Given the description of an element on the screen output the (x, y) to click on. 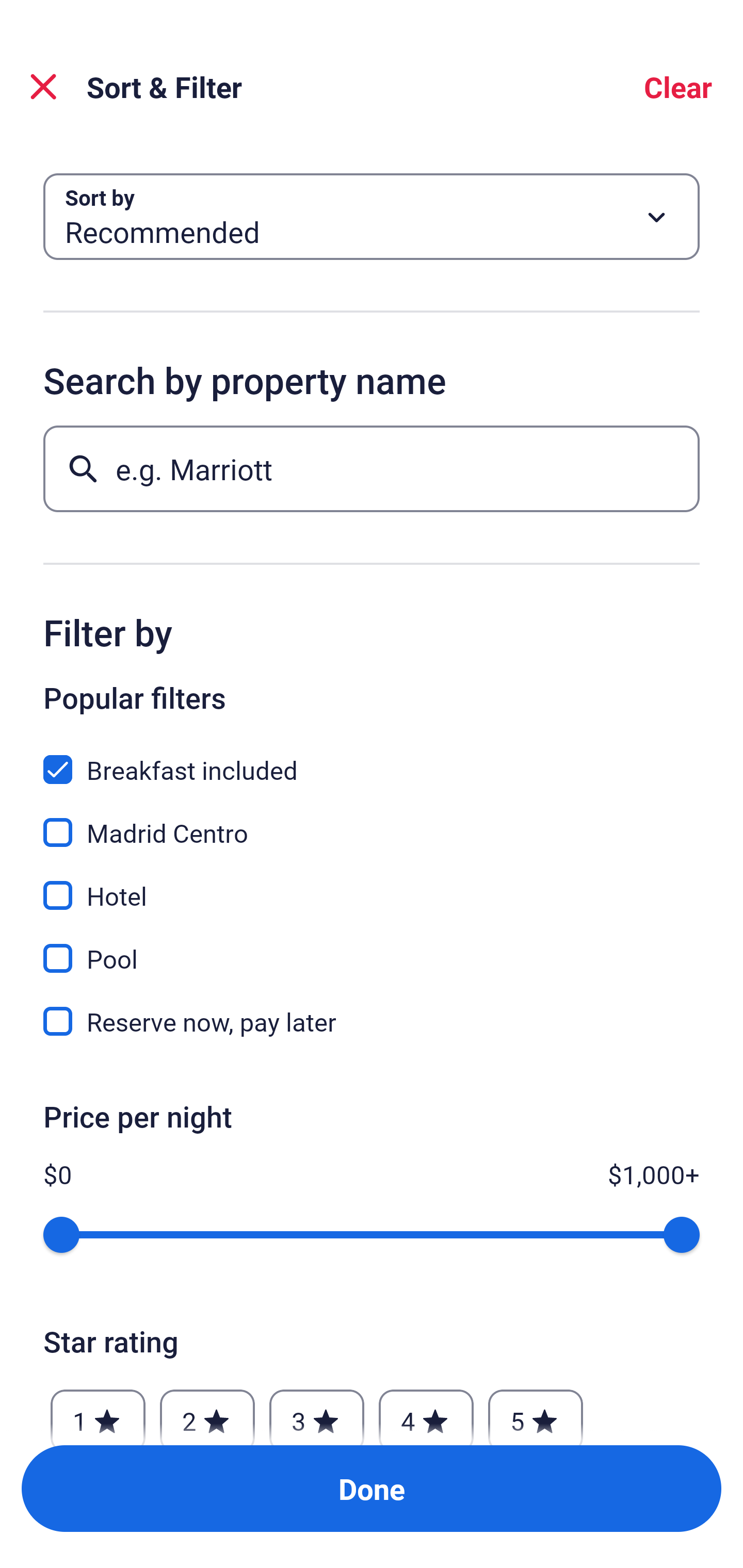
Close Sort and Filter (43, 86)
Clear (677, 86)
Sort by Button Recommended (371, 217)
e.g. Marriott Button (371, 468)
Breakfast included, Breakfast included (371, 757)
Madrid Centro, Madrid Centro (371, 821)
Hotel, Hotel (371, 883)
Pool, Pool (371, 946)
Reserve now, pay later, Reserve now, pay later (371, 1021)
1 (97, 1411)
2 (206, 1411)
3 (316, 1411)
4 (426, 1411)
5 (535, 1411)
Apply and close Sort and Filter Done (371, 1488)
